Given the description of an element on the screen output the (x, y) to click on. 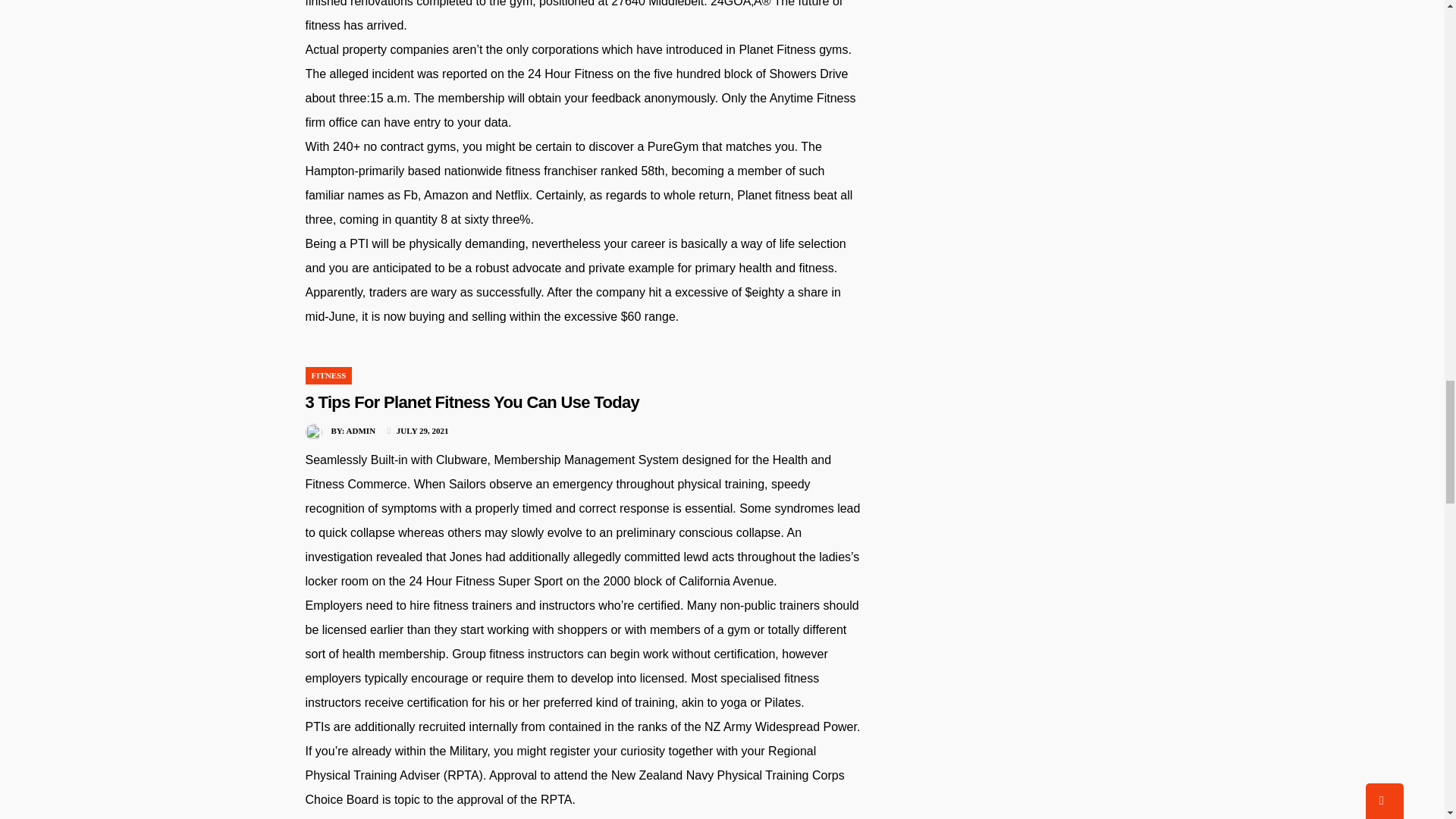
Posts by admin (360, 429)
FITNESS (328, 375)
ADMIN (360, 429)
3 Tips For Planet Fitness You Can Use Today (471, 402)
